Given the description of an element on the screen output the (x, y) to click on. 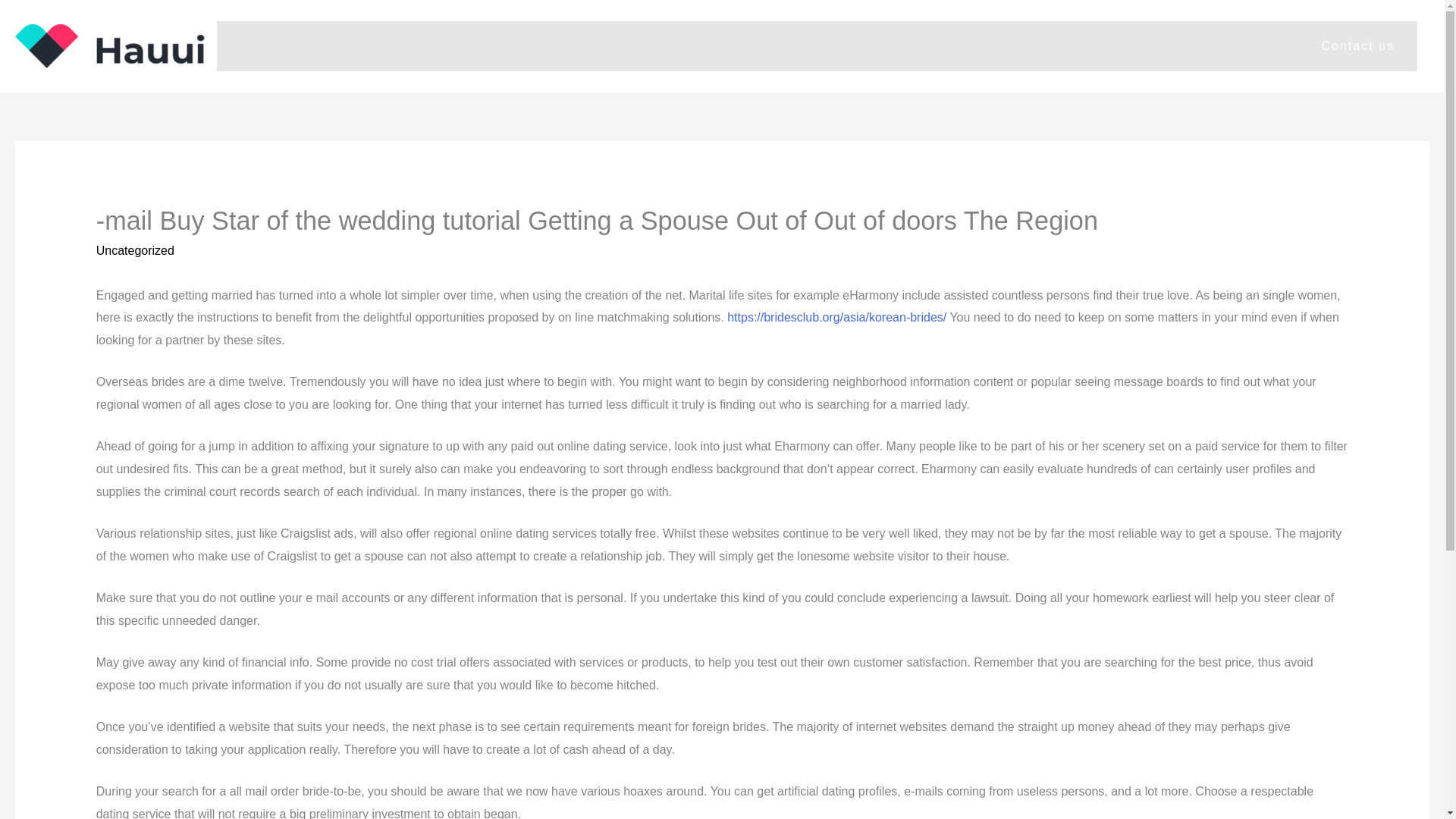
Contact us (816, 46)
Uncategorized (135, 250)
